Given the description of an element on the screen output the (x, y) to click on. 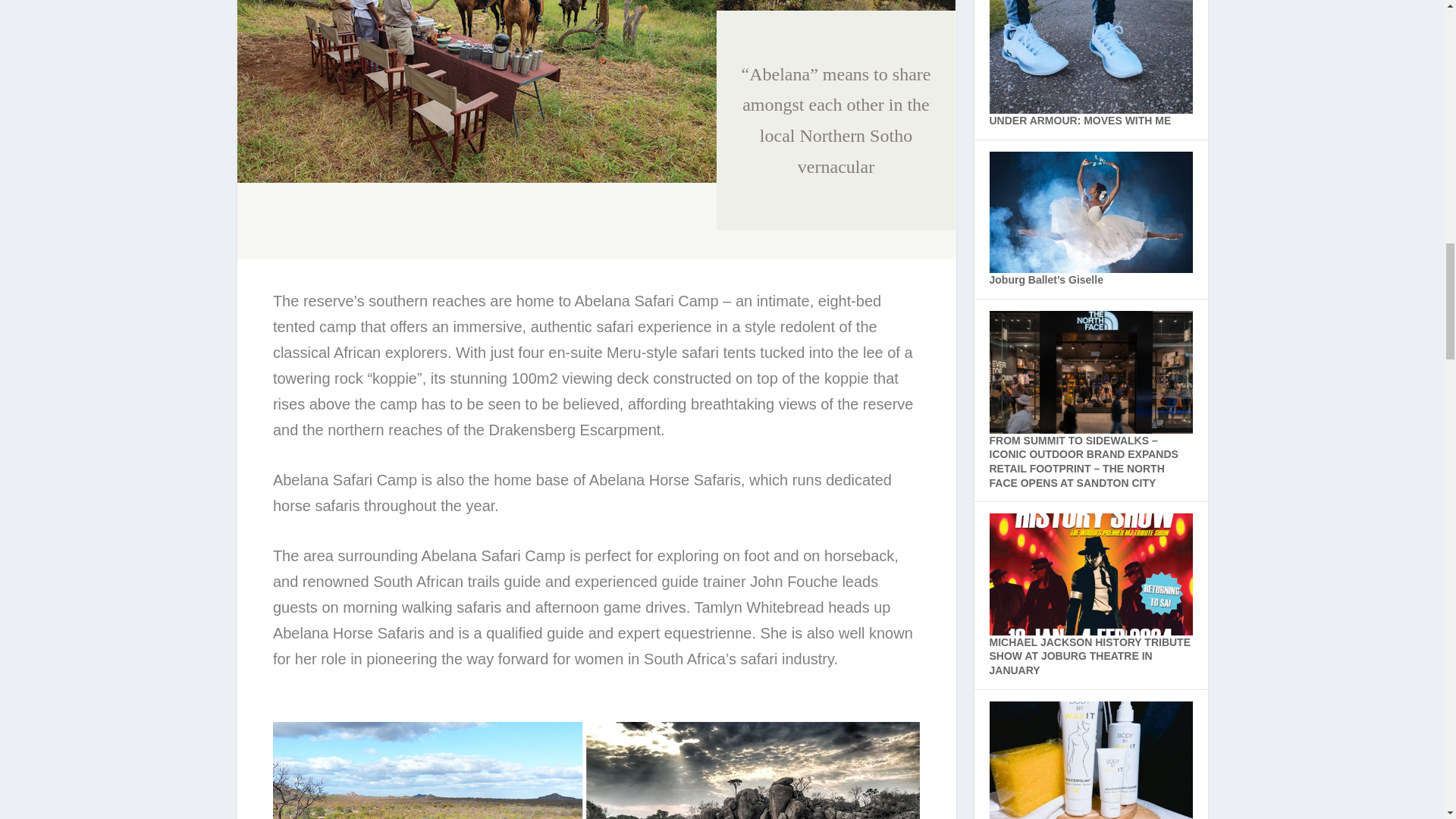
Image-3 (475, 91)
Image-above-pullquote (835, 5)
